Given the description of an element on the screen output the (x, y) to click on. 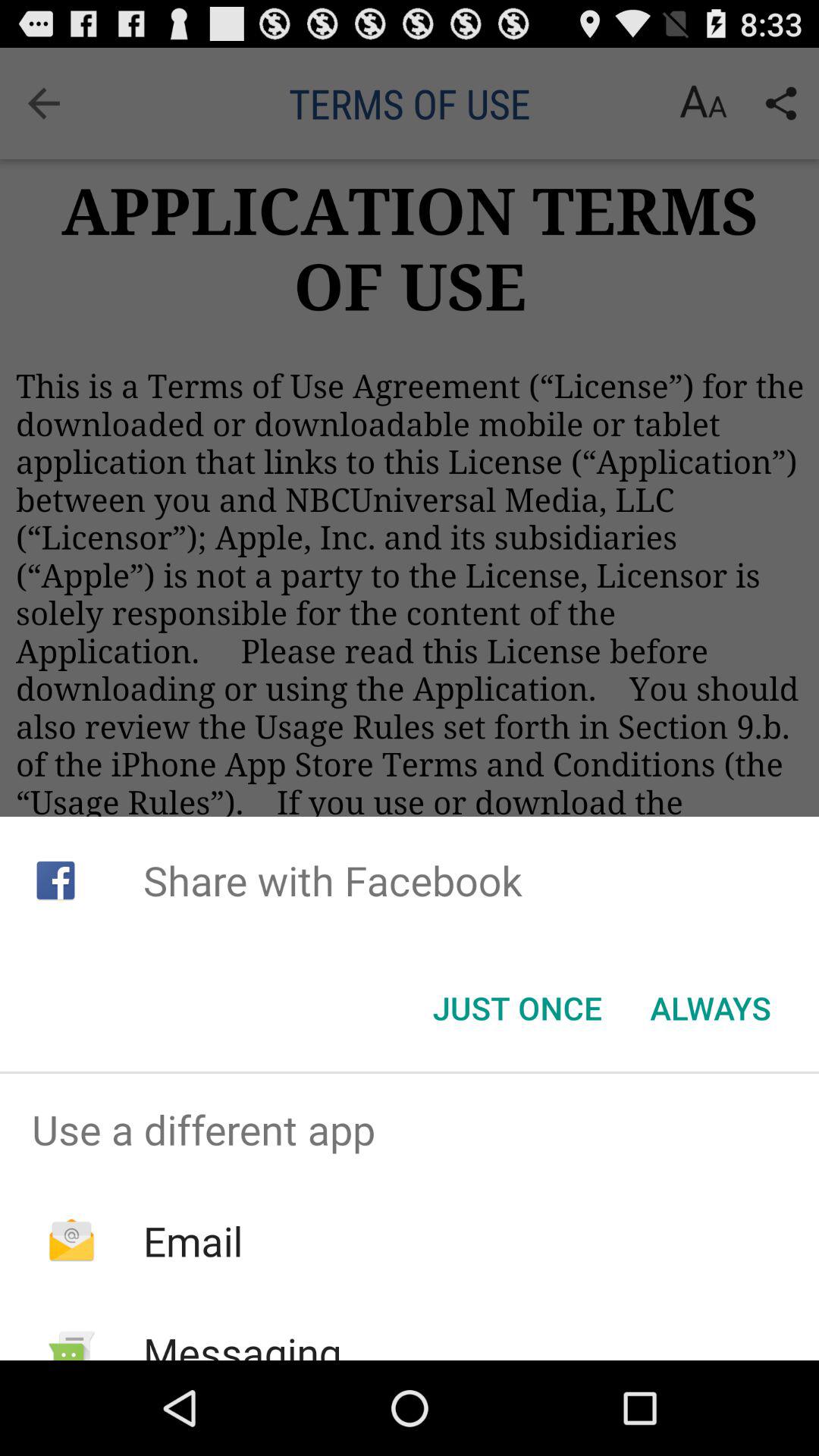
scroll until email (192, 1240)
